Given the description of an element on the screen output the (x, y) to click on. 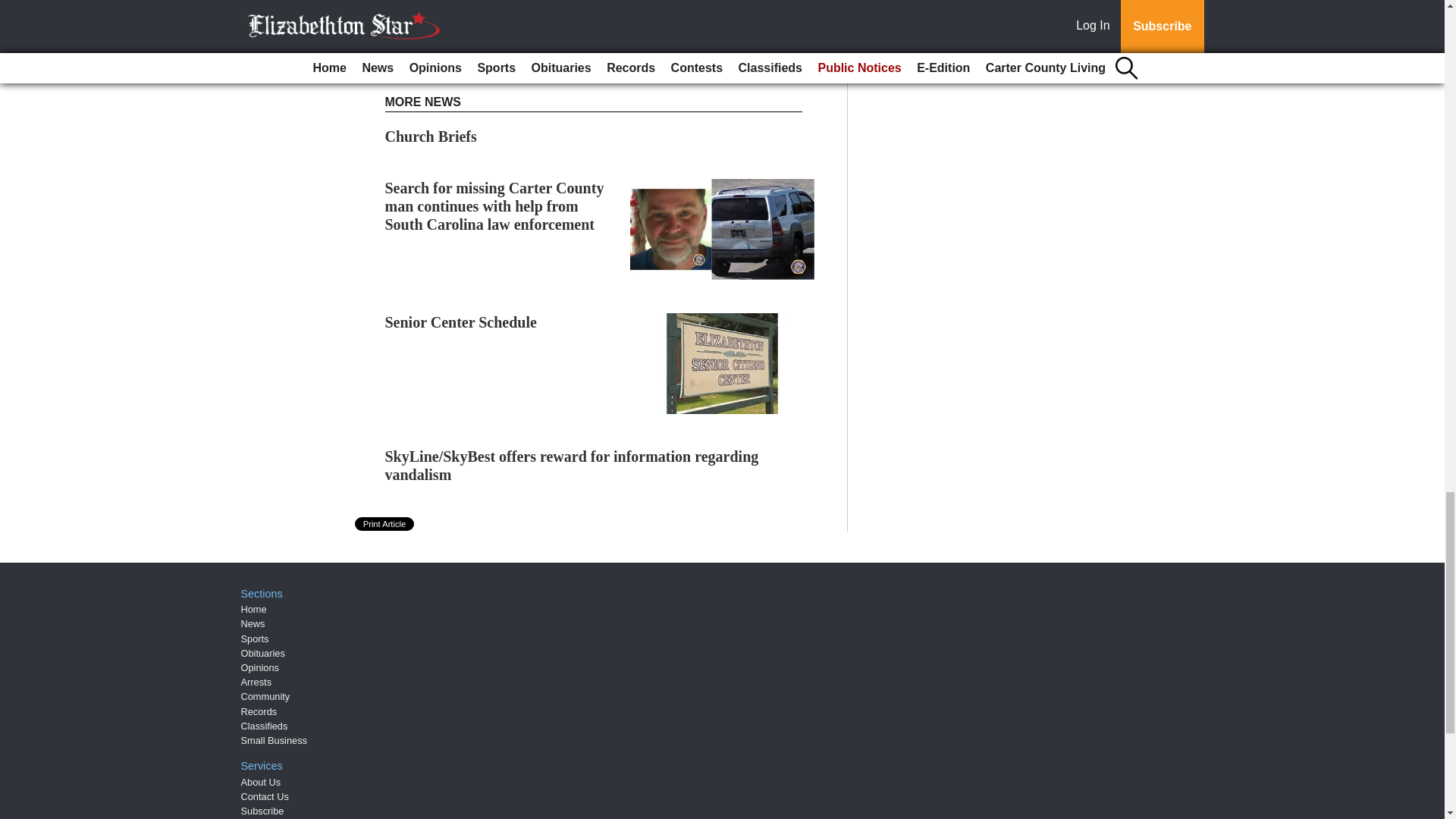
Community (265, 696)
Senior Center Schedule (461, 321)
Arrests (256, 681)
News (252, 623)
Senior Center Schedule (461, 321)
Church Briefs (431, 135)
Records (259, 711)
Print Article (384, 523)
Sports (255, 638)
Obituaries (263, 653)
Home (253, 609)
Opinions (260, 667)
Church Briefs (431, 135)
